Given the description of an element on the screen output the (x, y) to click on. 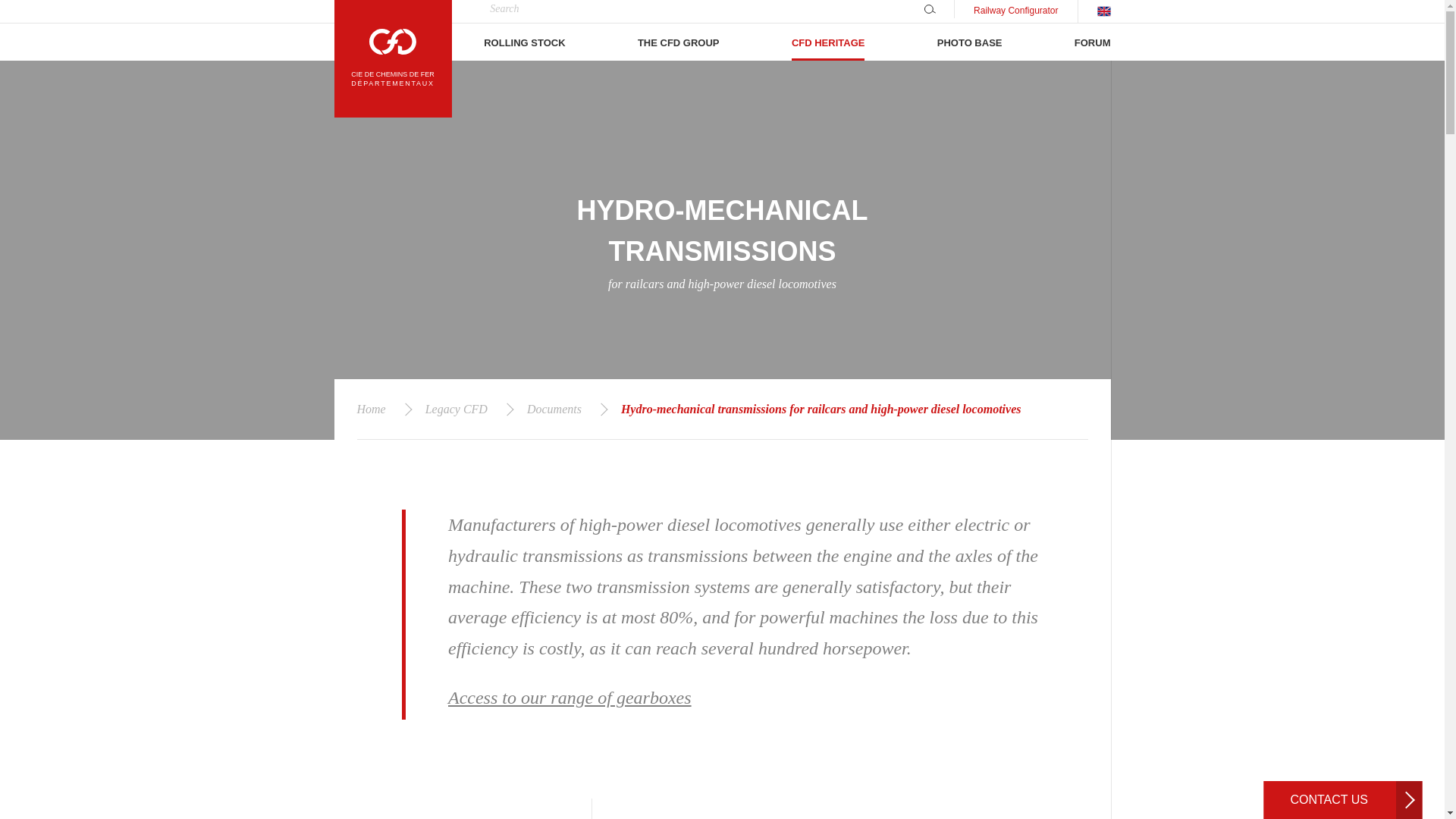
CFD Discussion Forum (1092, 41)
Legacy of the company created in 1881 (828, 41)
The group and its subsidiaries (678, 41)
FORUM (1092, 41)
Documents (554, 409)
CFD HERITAGE (828, 41)
ROLLING STOCK (523, 41)
Documents (554, 409)
Home (378, 409)
Legacy CFD (456, 409)
Access to our range of gearboxes (569, 697)
THE CFD GROUP (678, 41)
Gearboxes (569, 697)
PHOTO BASE (970, 41)
Legacy CFD (456, 409)
